Given the description of an element on the screen output the (x, y) to click on. 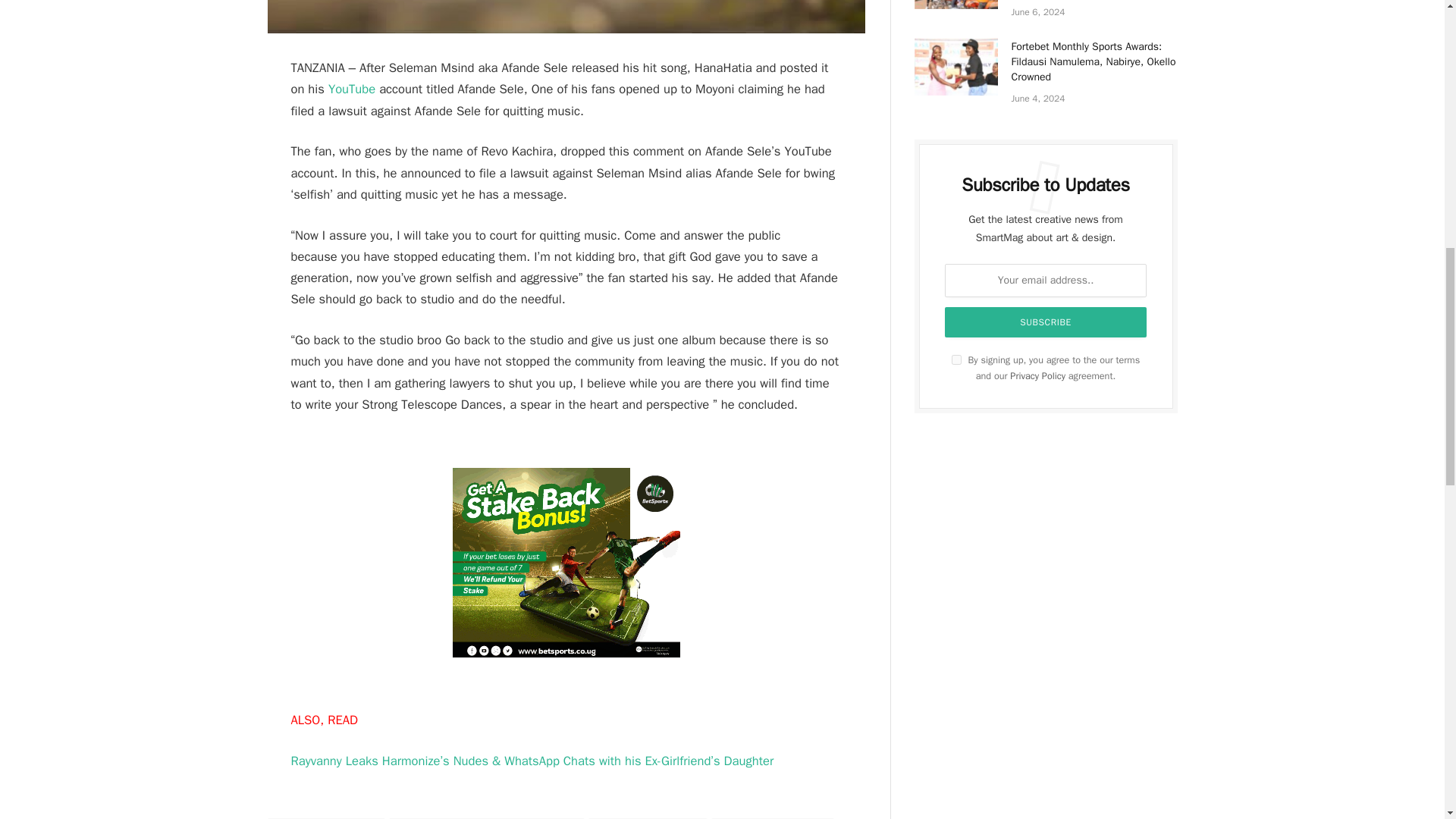
Subscribe (1045, 322)
on (956, 359)
